Given the description of an element on the screen output the (x, y) to click on. 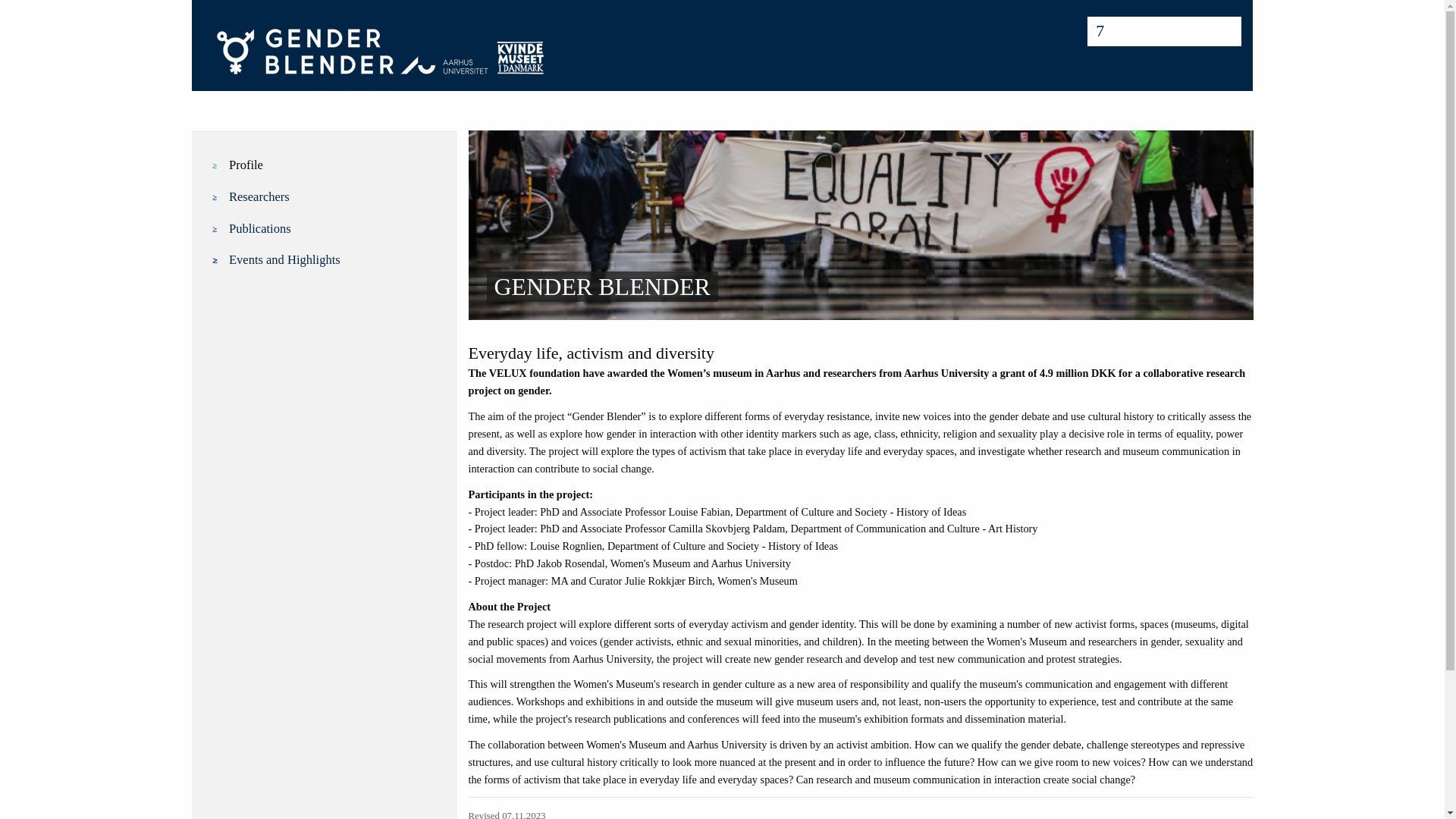
Events and Highlights (334, 260)
Researchers (334, 197)
Search (19, 7)
Type search criteria (1164, 30)
Profile (334, 165)
Publications (334, 229)
